Given the description of an element on the screen output the (x, y) to click on. 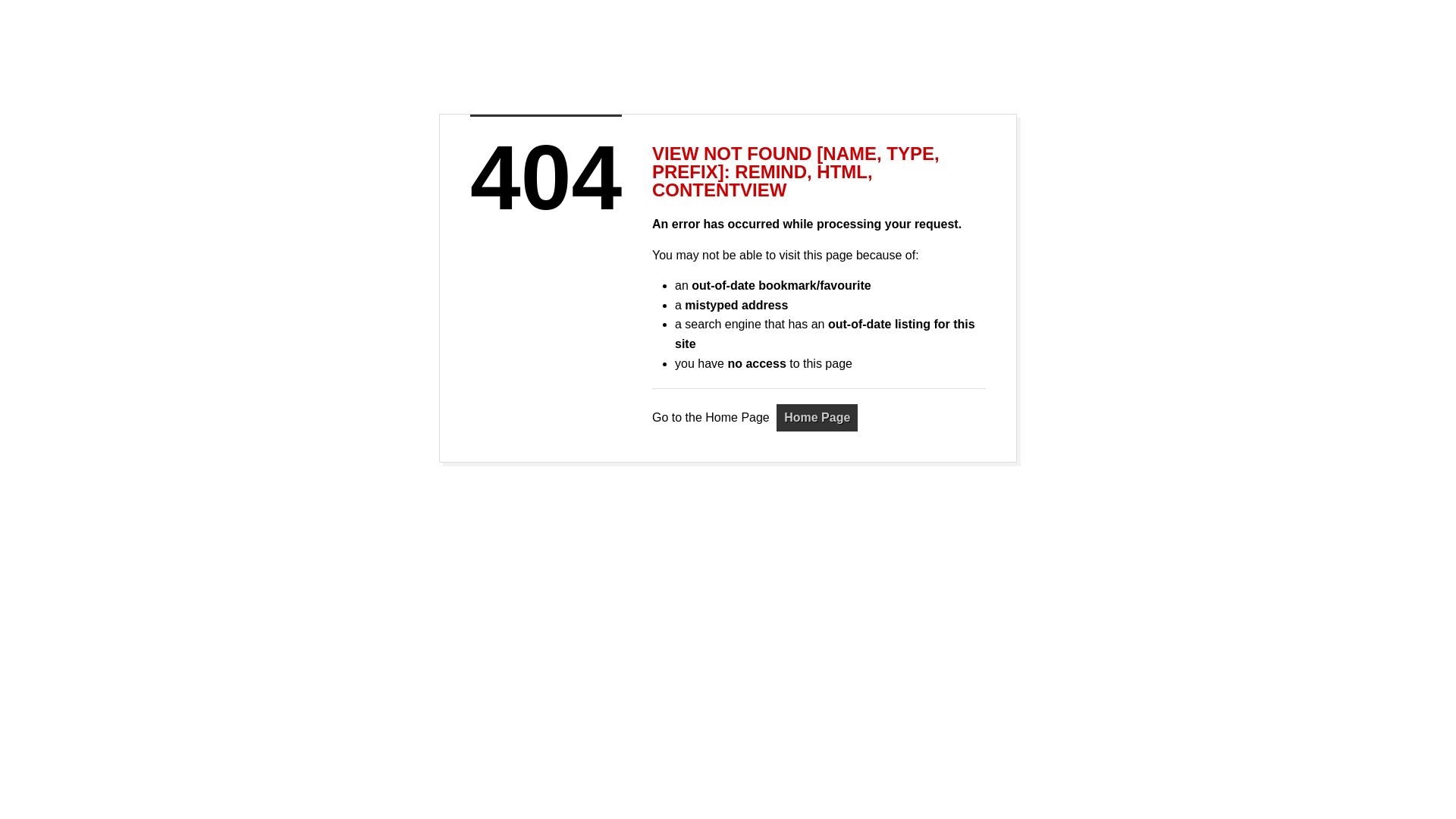
Home Page Element type: text (816, 417)
